Given the description of an element on the screen output the (x, y) to click on. 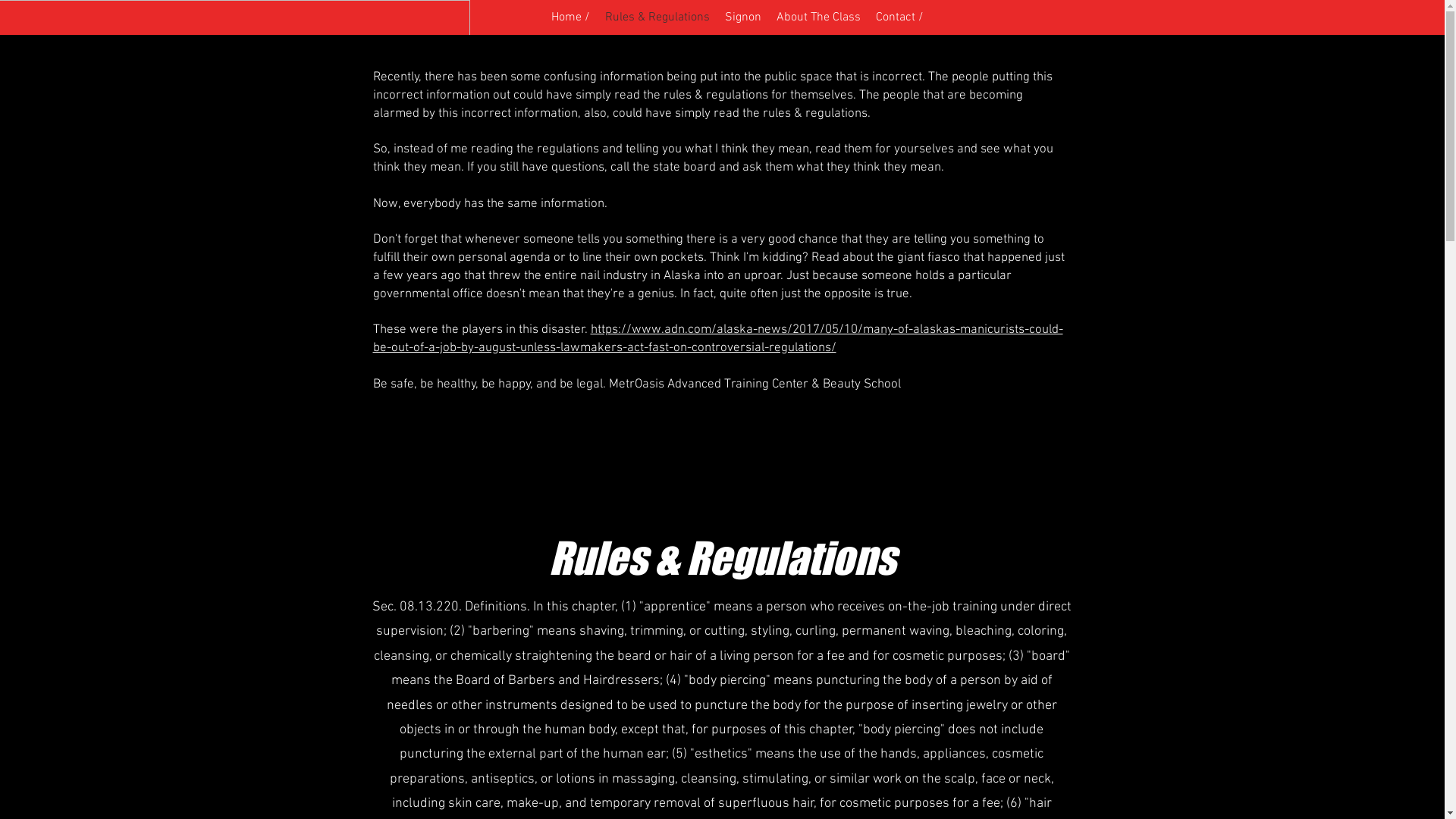
Signon Element type: text (742, 17)
Contact / Element type: text (898, 17)
About The Class Element type: text (818, 17)
Home / Element type: text (569, 17)
Rules & Regulations Element type: text (657, 17)
